Given the description of an element on the screen output the (x, y) to click on. 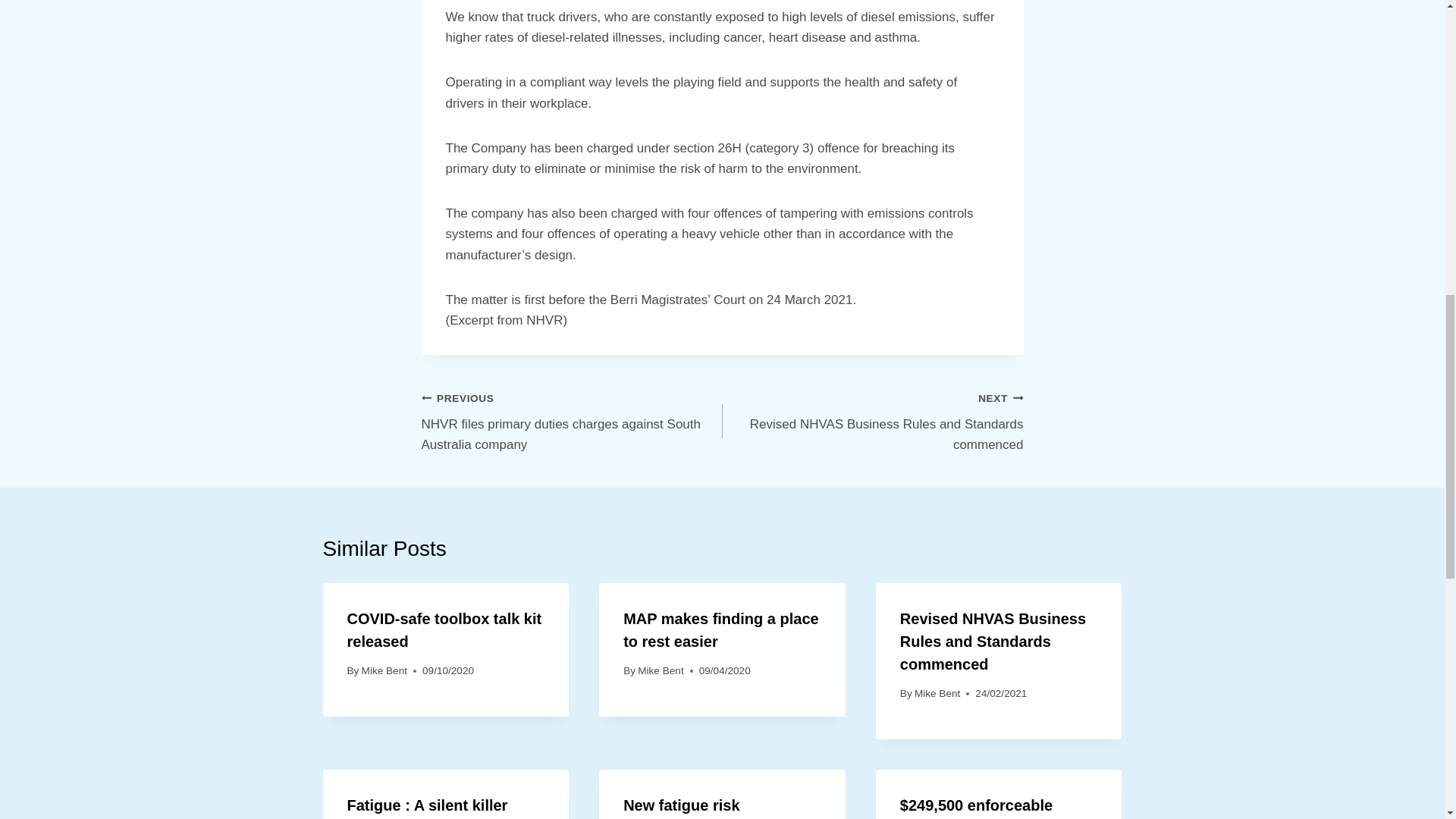
COVID-safe toolbox talk kit released (444, 630)
Mike Bent (659, 670)
MAP makes finding a place to rest easier (872, 421)
Mike Bent (720, 630)
